Given the description of an element on the screen output the (x, y) to click on. 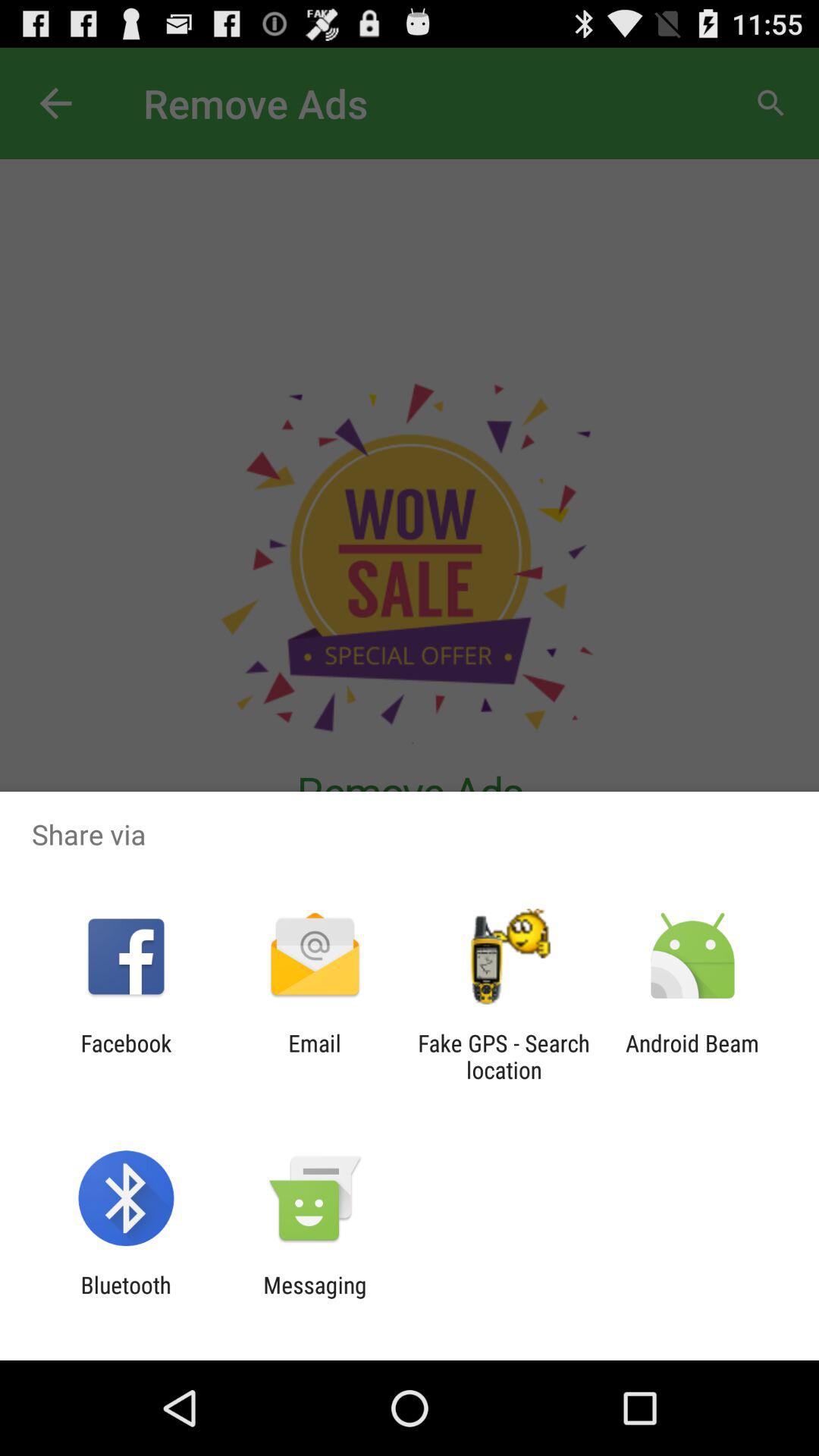
click icon to the left of the messaging app (125, 1298)
